Given the description of an element on the screen output the (x, y) to click on. 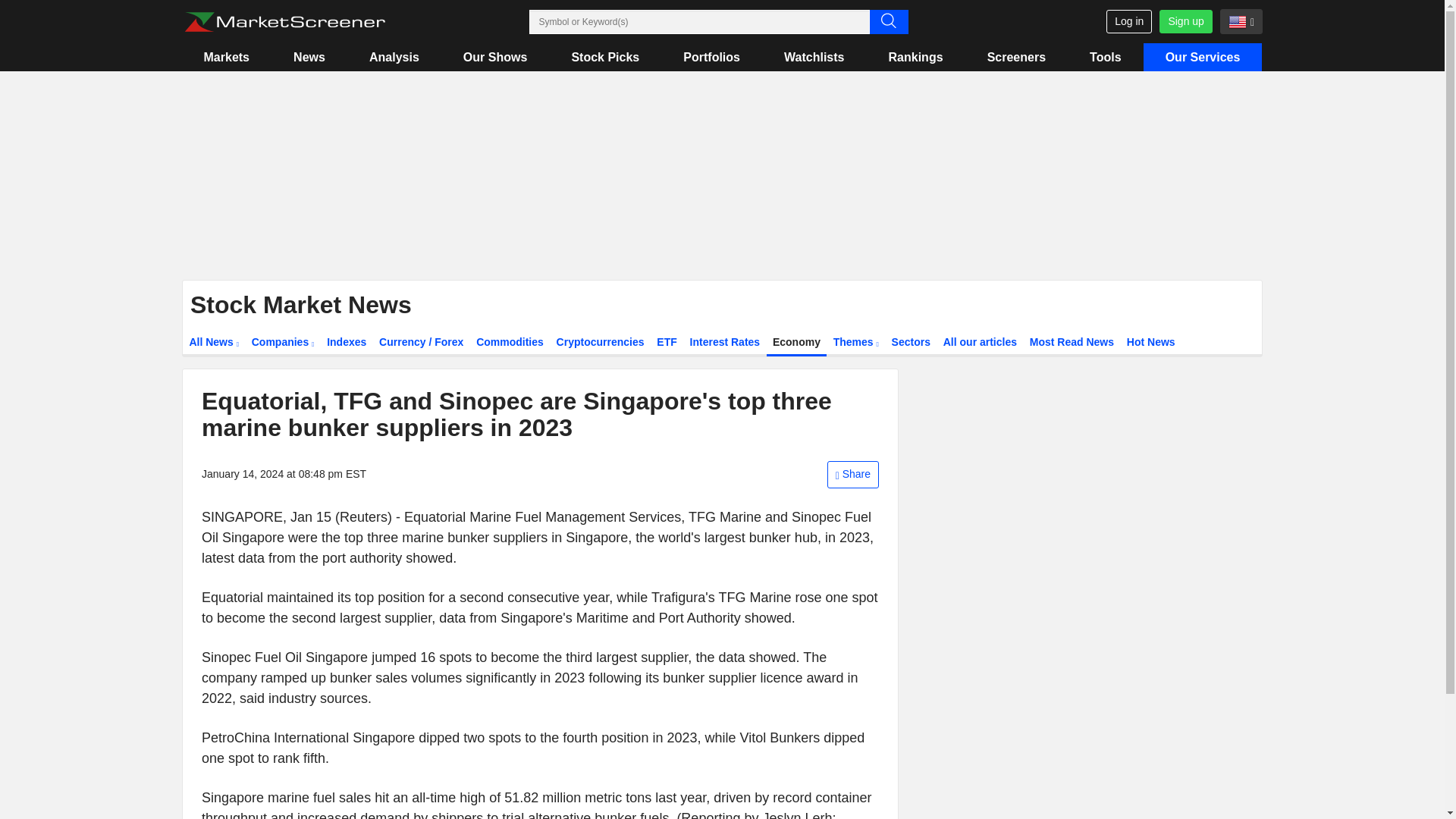
Sign up (1184, 21)
Marketscreener: stock market and financial news (284, 21)
Markets (226, 57)
Log in (1128, 21)
Advanced search (888, 21)
